Given the description of an element on the screen output the (x, y) to click on. 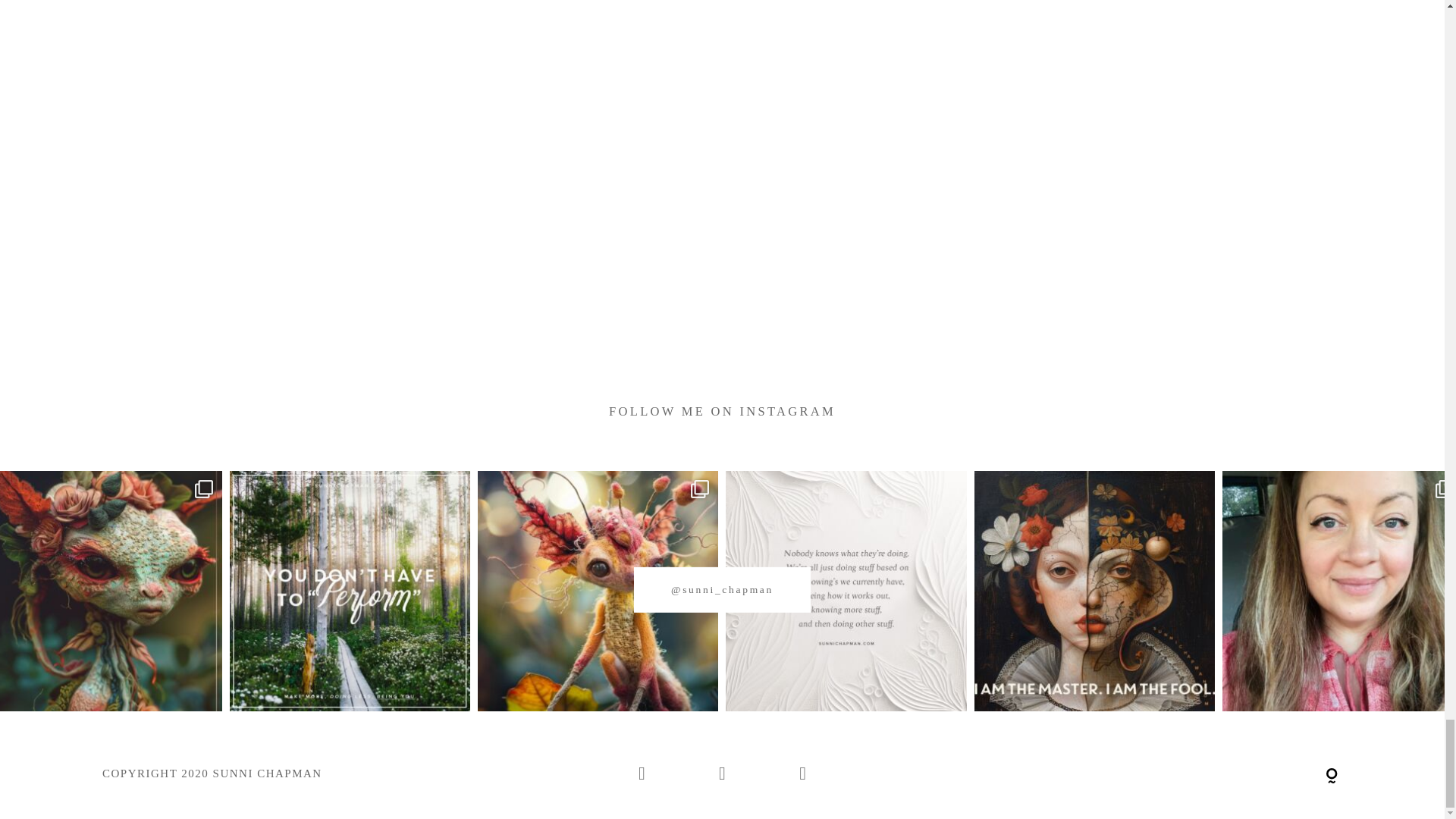
Sorry, your browser does not support inline SVG. (1331, 776)
